Given the description of an element on the screen output the (x, y) to click on. 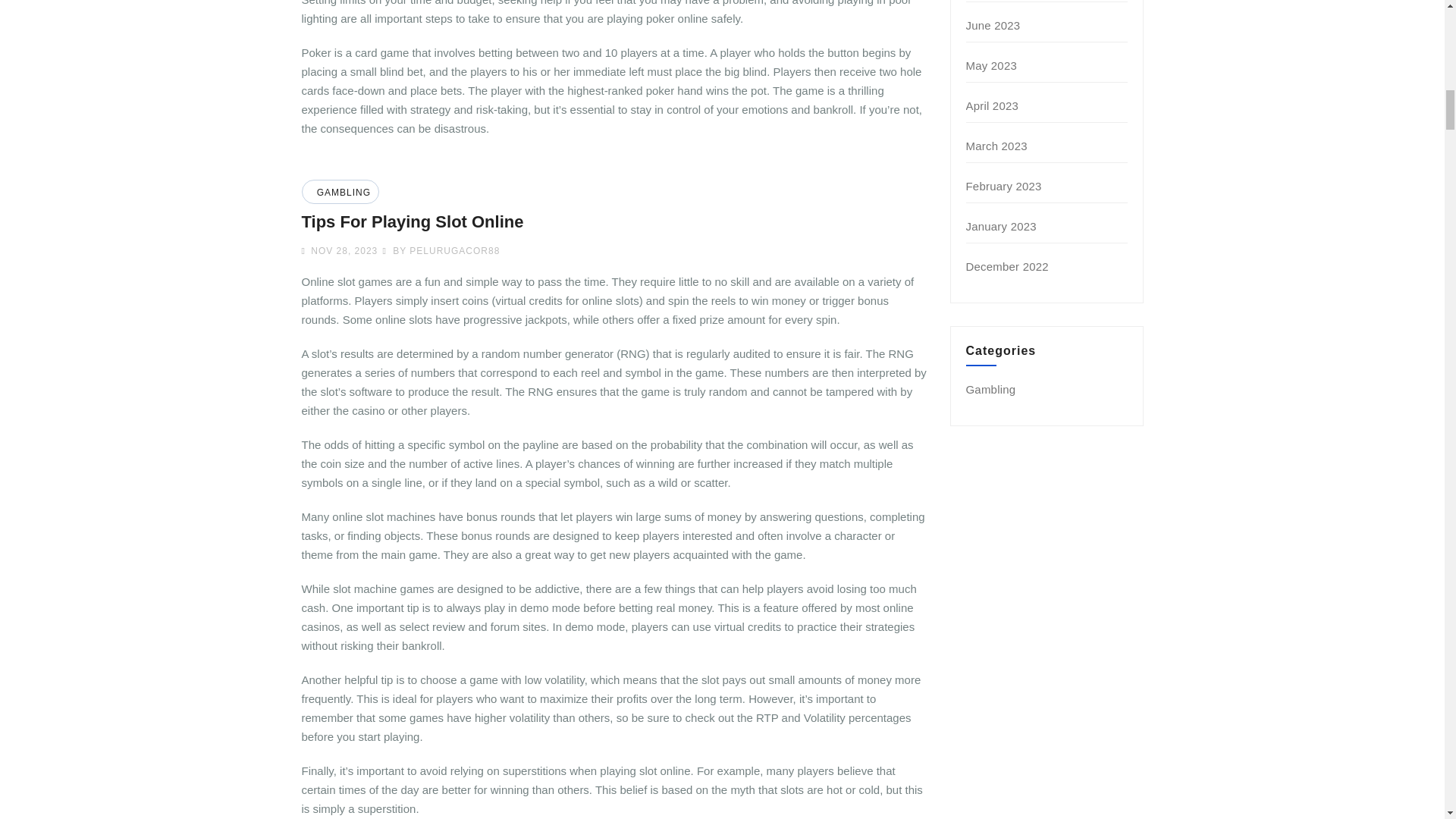
Tips For Playing Slot Online (412, 221)
NOV 28, 2023 (342, 250)
GAMBLING (342, 192)
BY PELURUGACOR88 (440, 250)
Permalink to: Tips For Playing Slot Online (412, 221)
